Given the description of an element on the screen output the (x, y) to click on. 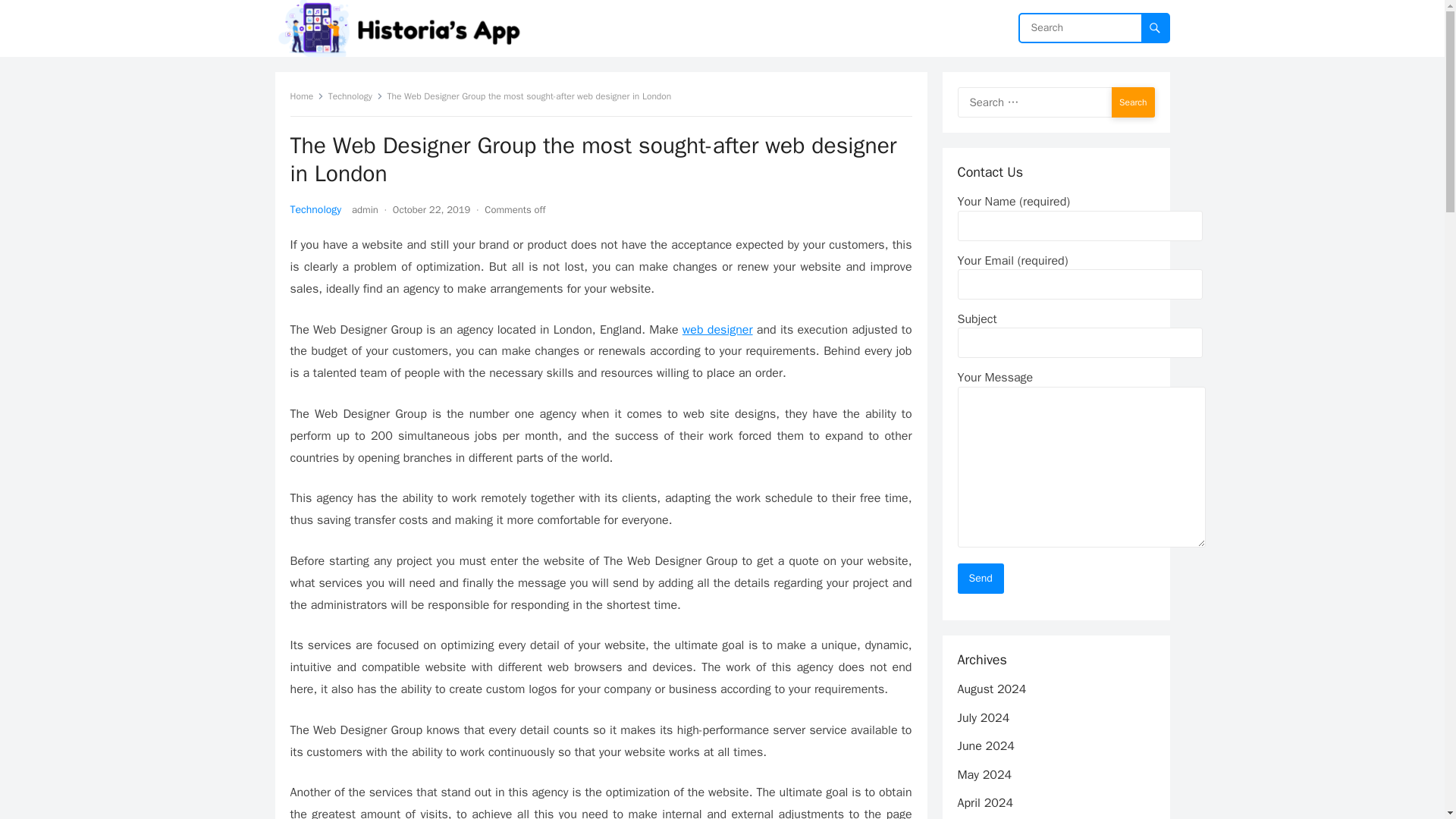
Search (1133, 101)
Search (1133, 101)
Technology (314, 209)
Posts by admin (365, 209)
Technology (355, 96)
admin (365, 209)
web designer (717, 329)
Home (306, 96)
Send (979, 578)
